Given the description of an element on the screen output the (x, y) to click on. 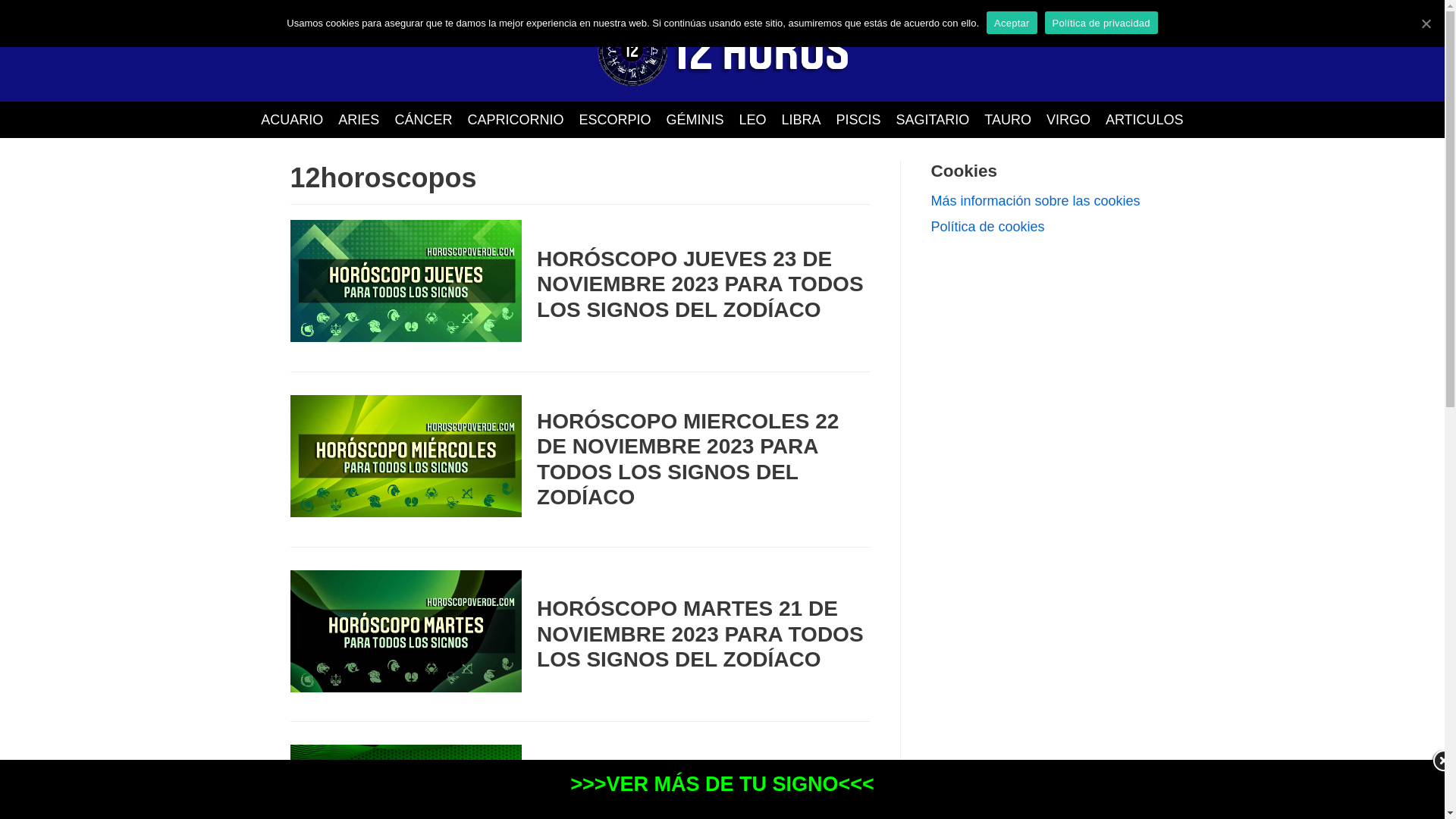
Saltar al contenido Element type: text (15, 31)
SAGITARIO Element type: text (932, 120)
ARIES Element type: text (358, 120)
TAURO Element type: text (1007, 120)
ARTICULOS Element type: text (1144, 120)
ACUARIO Element type: text (291, 120)
ESCORPIO Element type: text (614, 120)
CAPRICORNIO Element type: text (515, 120)
LIBRA Element type: text (800, 120)
VIRGO Element type: text (1068, 120)
PISCIS Element type: text (858, 120)
Aceptar Element type: text (1011, 22)
LEO Element type: text (751, 120)
